Given the description of an element on the screen output the (x, y) to click on. 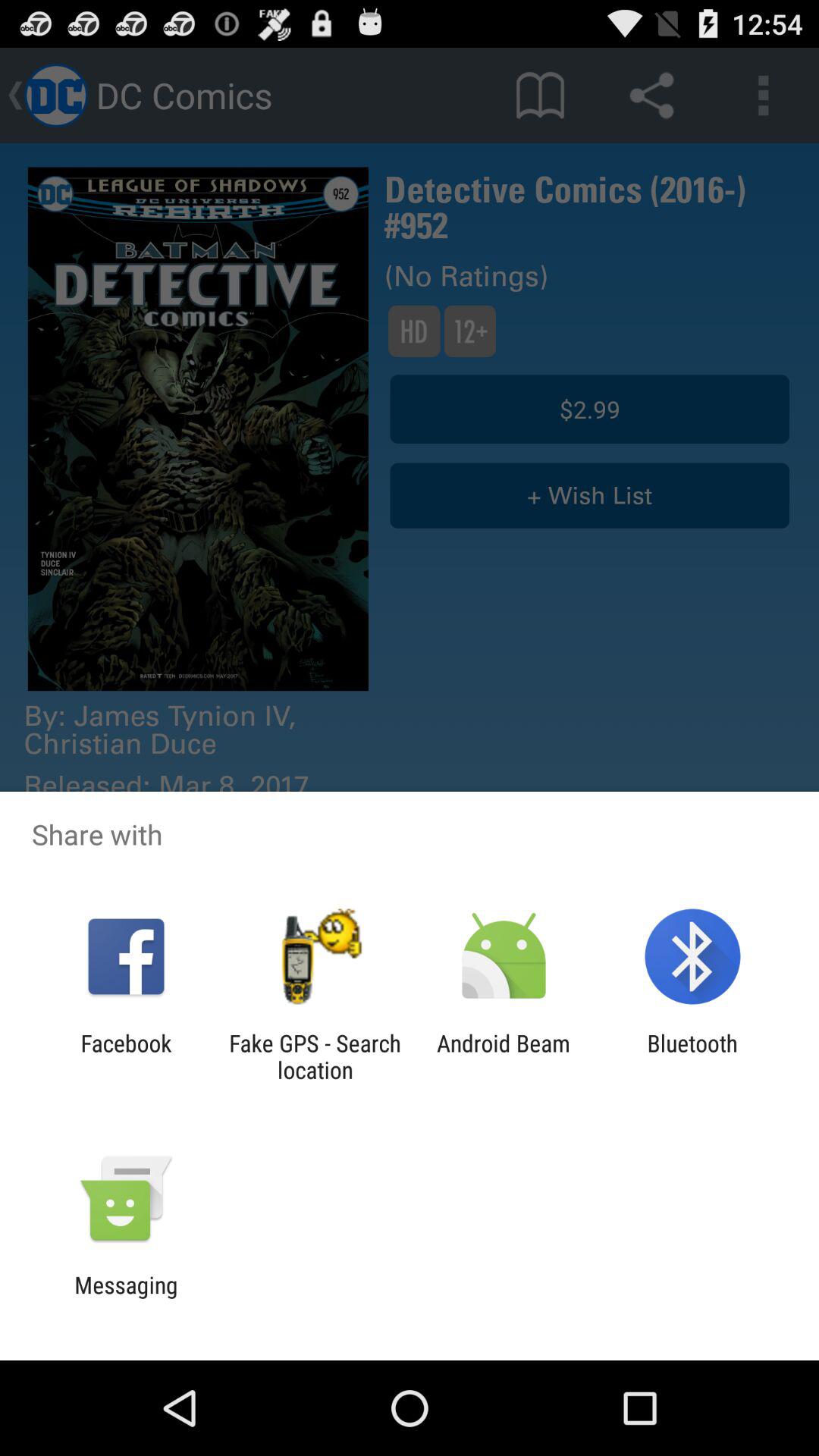
swipe until messaging icon (126, 1298)
